Given the description of an element on the screen output the (x, y) to click on. 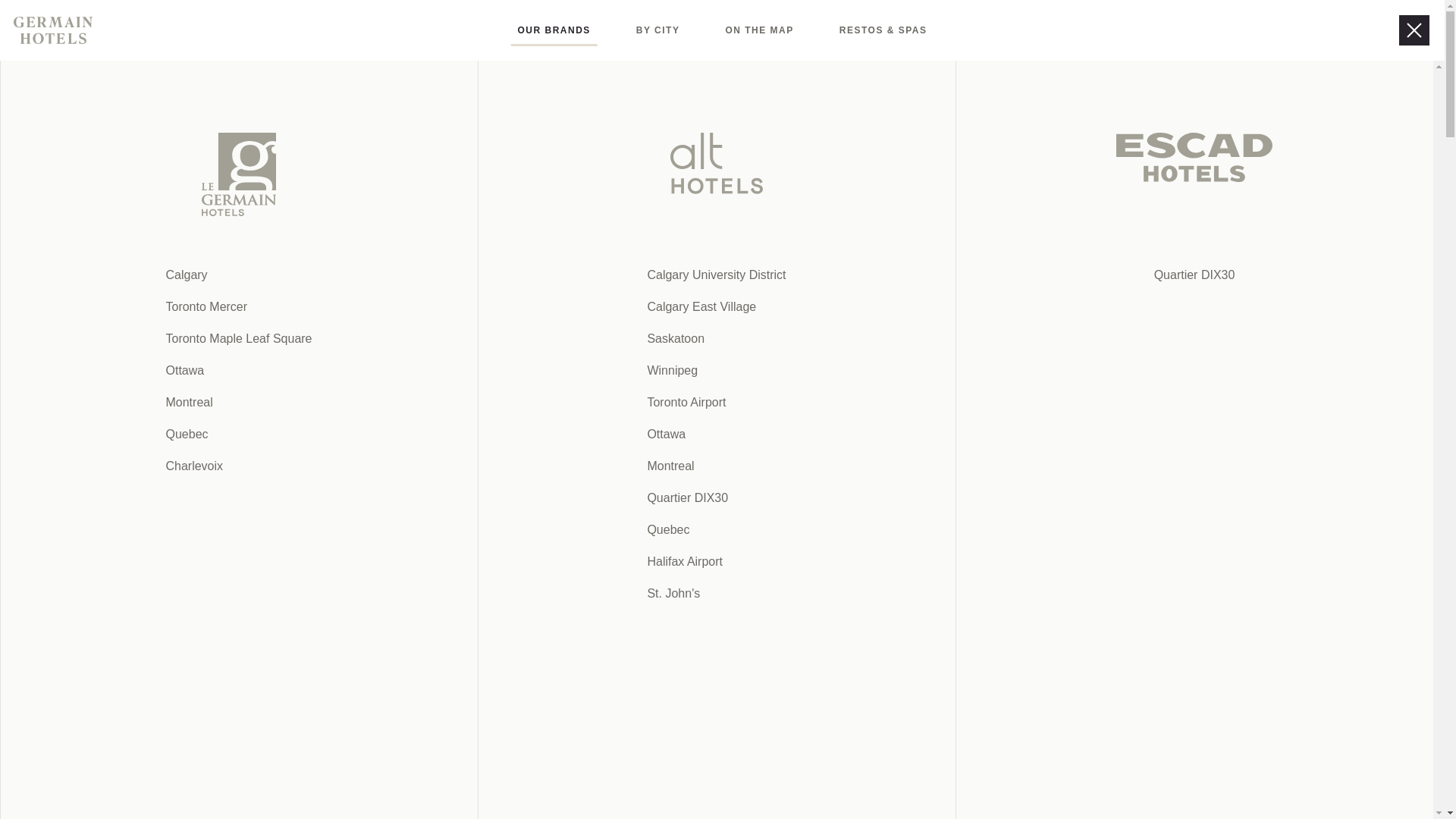
Thirteen Pies (630, 809)
Saskatoon (541, 467)
Activities (608, 467)
BOUTIQUE (692, 30)
OFFERS (606, 30)
BLOG (772, 30)
Book here (1207, 30)
ABOUT (932, 30)
Spank Clothing (622, 684)
Gastronomy (678, 467)
FR (1125, 30)
CAREERS (850, 30)
BACK TO THE BLOG (1123, 551)
Alt Hotel Saskatoon (79, 94)
